Given the description of an element on the screen output the (x, y) to click on. 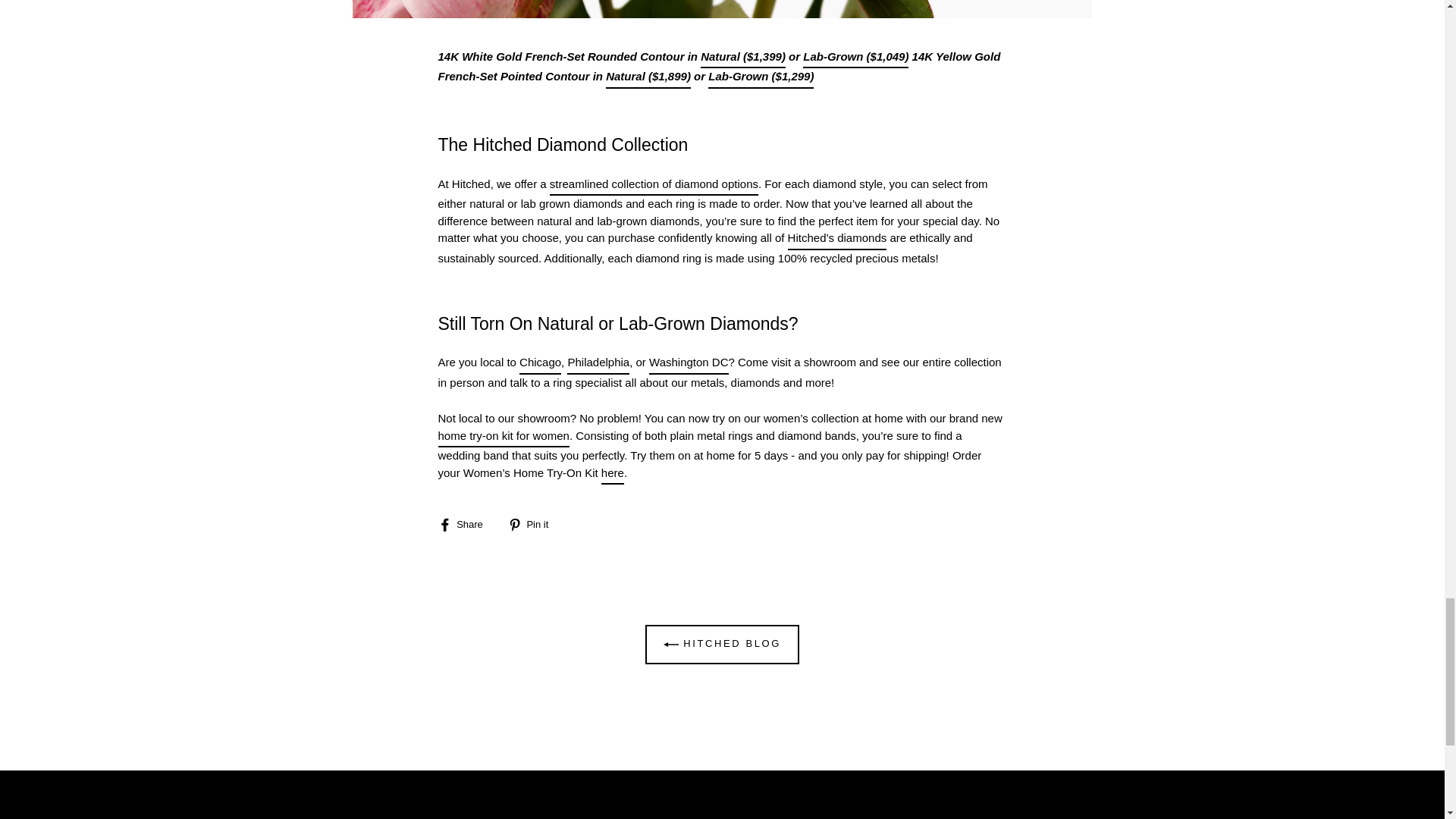
Pin on Pinterest (534, 523)
Share on Facebook (466, 523)
washington dc jewelry store (689, 363)
